Given the description of an element on the screen output the (x, y) to click on. 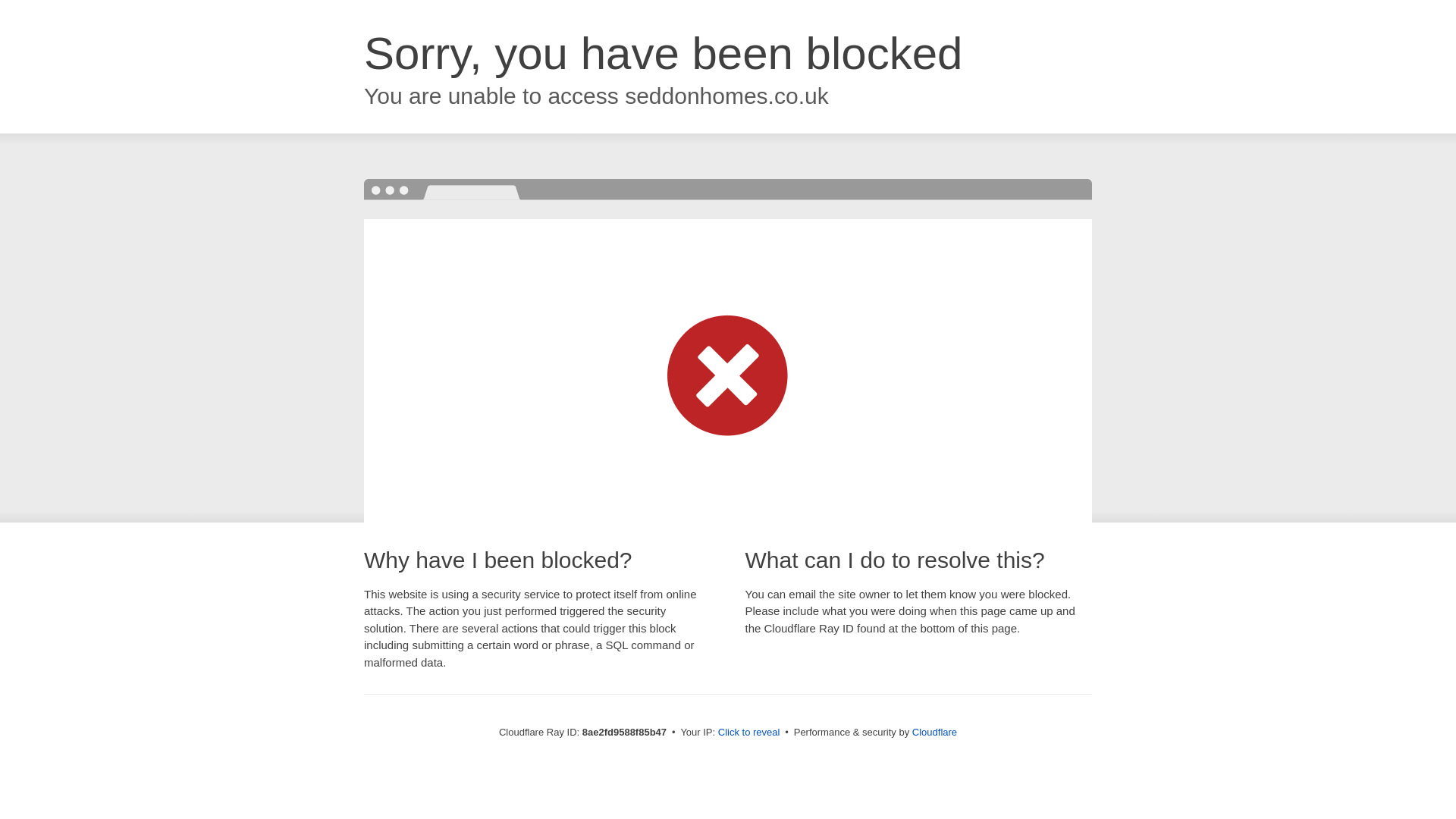
Cloudflare (934, 731)
Click to reveal (748, 732)
